Given the description of an element on the screen output the (x, y) to click on. 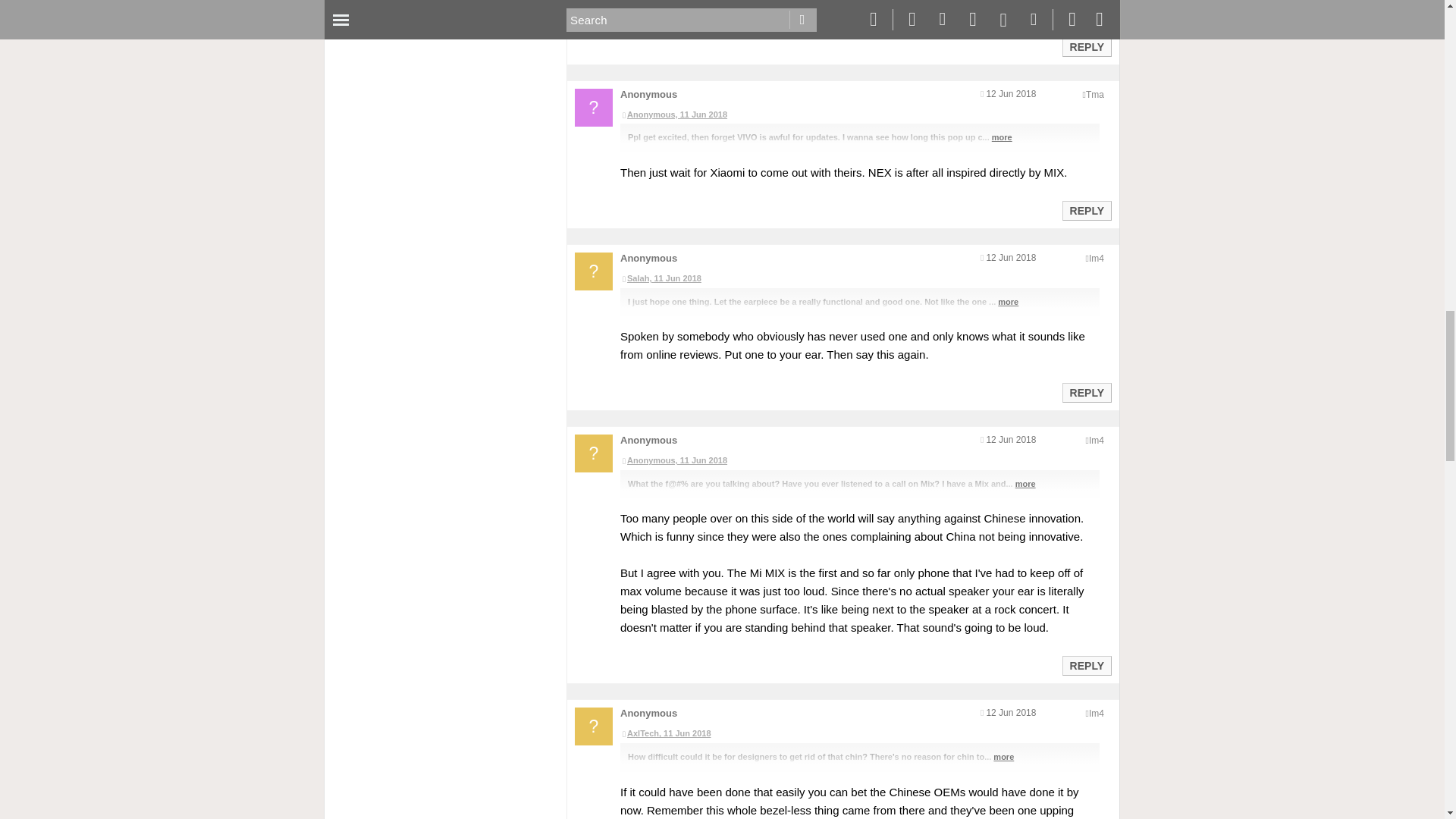
Reply to this post (1086, 392)
Reply to this post (1086, 210)
Encoded anonymized location (1094, 94)
Encoded anonymized location (1096, 258)
Reply to this post (1086, 46)
